Given the description of an element on the screen output the (x, y) to click on. 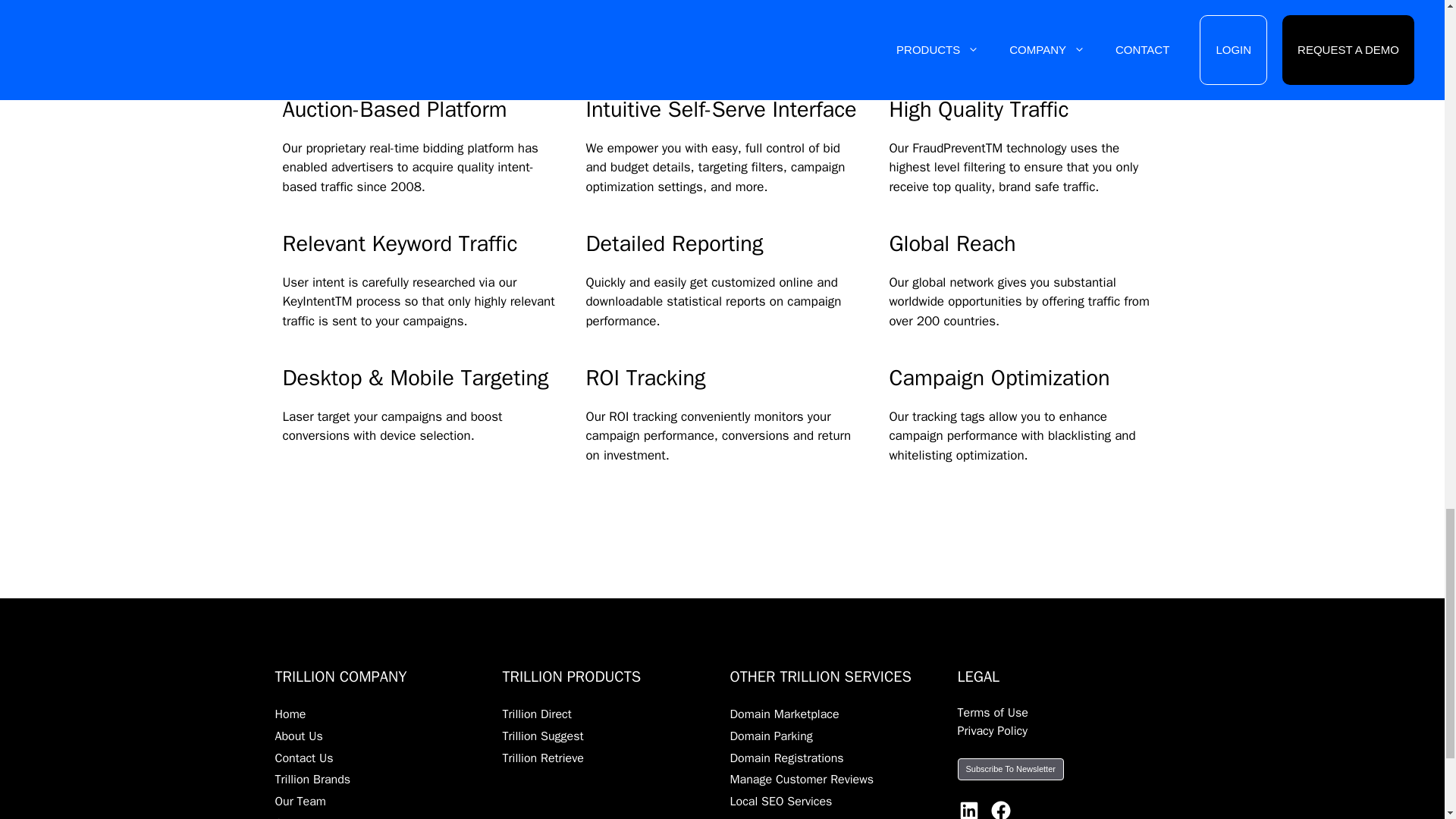
About Us (298, 735)
Home (290, 713)
Our Team (299, 801)
Trillion Brands (312, 779)
Contact Us (304, 758)
Careers (295, 817)
